Given the description of an element on the screen output the (x, y) to click on. 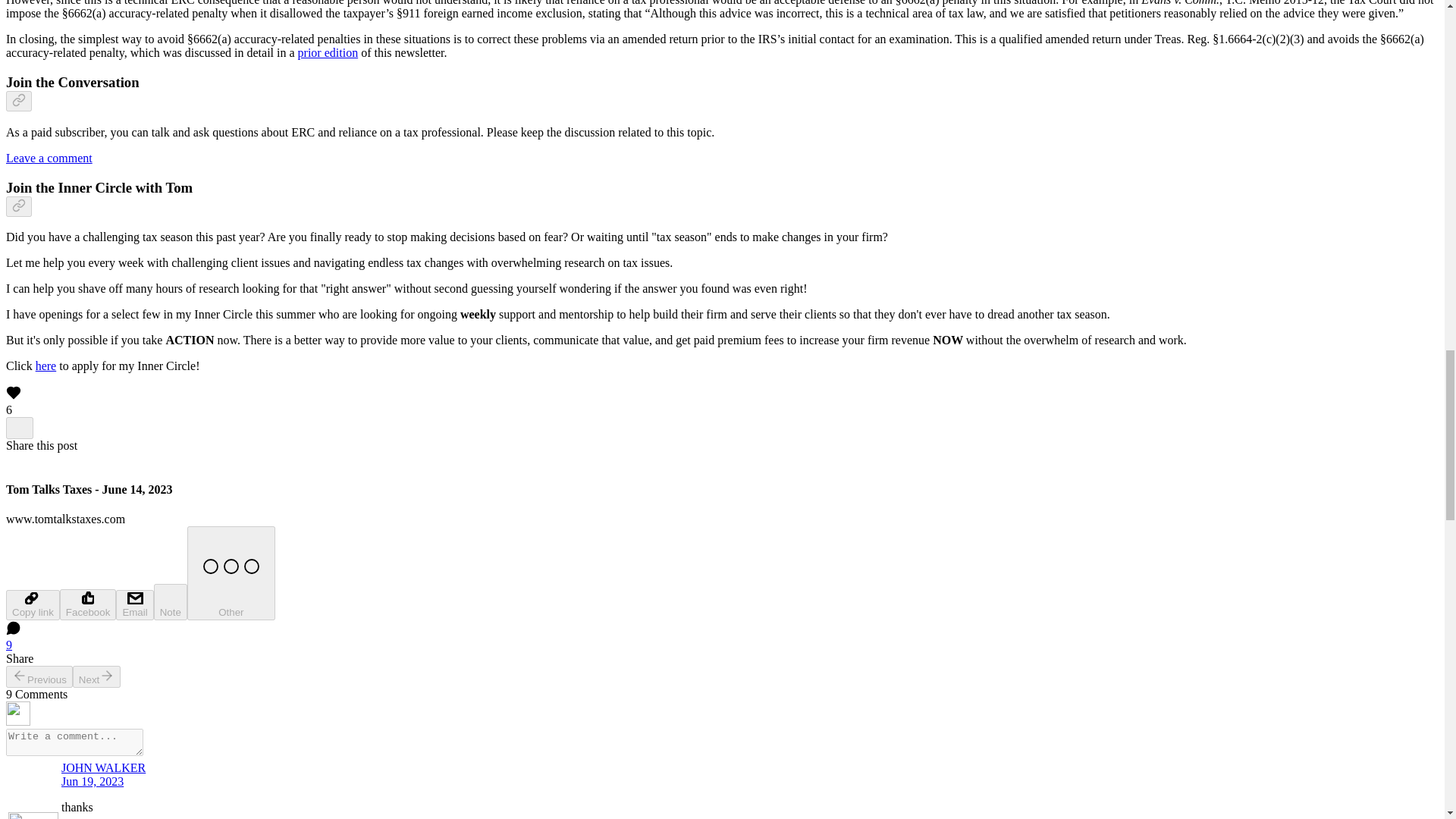
here (45, 365)
Previous (38, 676)
prior edition (328, 51)
Note (170, 601)
Copy link (32, 604)
Other (231, 572)
Email (134, 604)
Facebook (87, 603)
Leave a comment (49, 157)
